Given the description of an element on the screen output the (x, y) to click on. 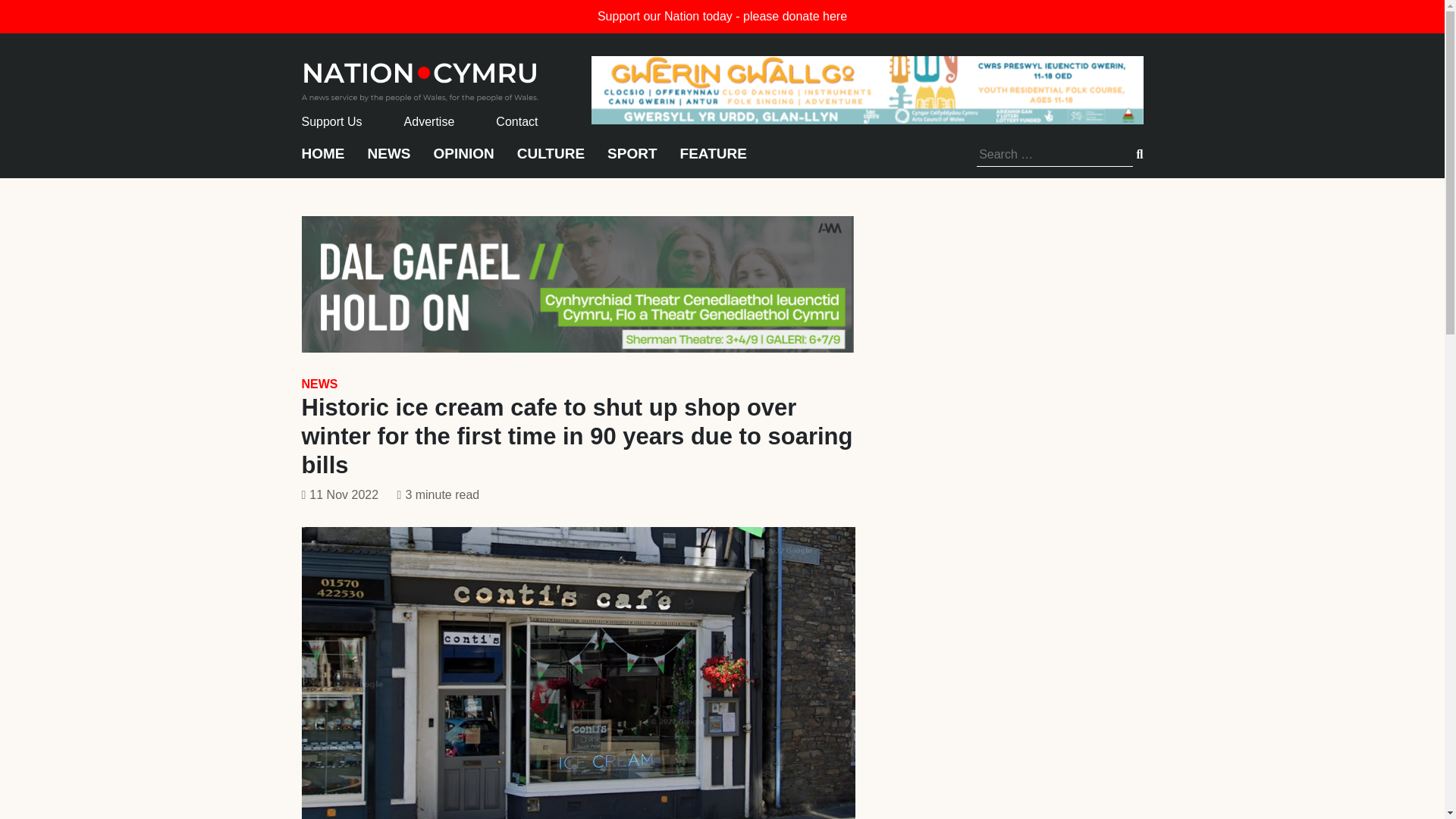
SPORT (631, 160)
home (419, 77)
OPINION (464, 160)
NEWS (388, 160)
FEATURE (712, 160)
CULTURE (550, 160)
Contact (516, 121)
Advertise (429, 121)
Support Us (331, 121)
HOME (323, 160)
